Given the description of an element on the screen output the (x, y) to click on. 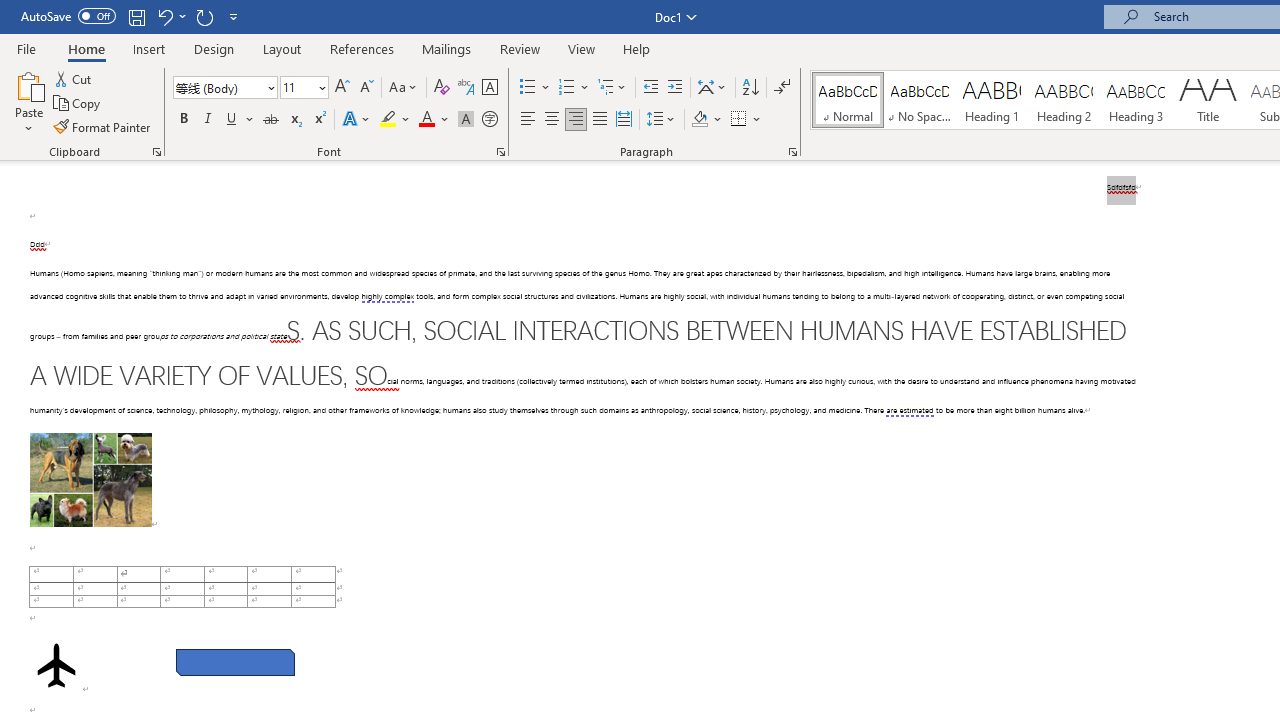
Undo Paragraph Alignment (170, 15)
Morphological variation in six dogs (90, 479)
Title (1208, 100)
